Given the description of an element on the screen output the (x, y) to click on. 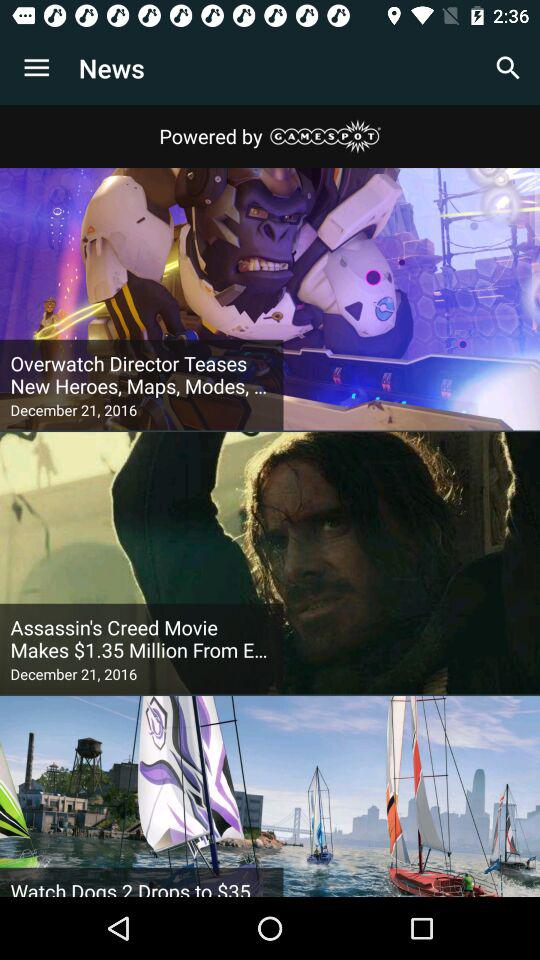
tap app next to the news item (508, 67)
